Given the description of an element on the screen output the (x, y) to click on. 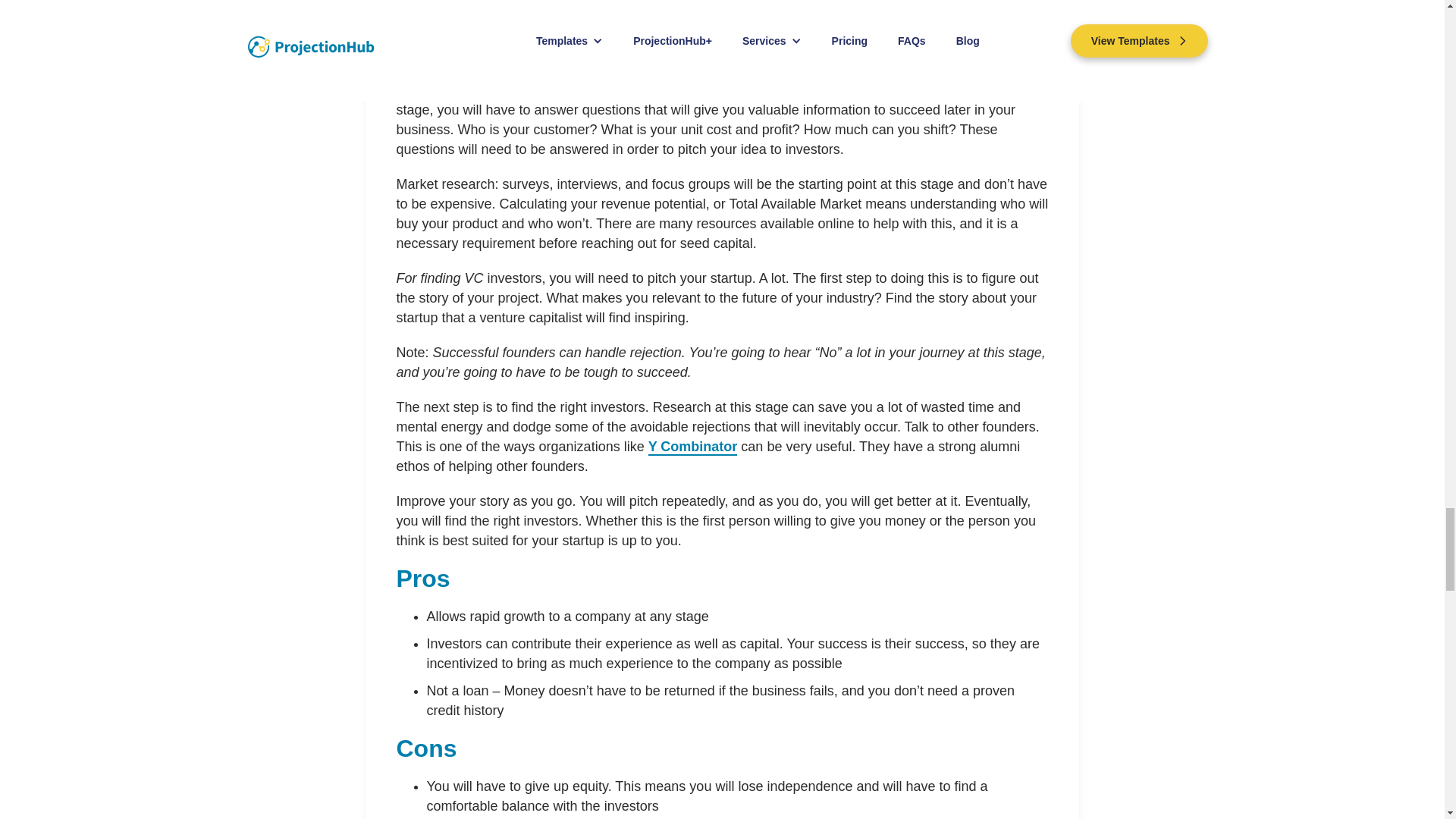
Y Combinator (692, 446)
